Given the description of an element on the screen output the (x, y) to click on. 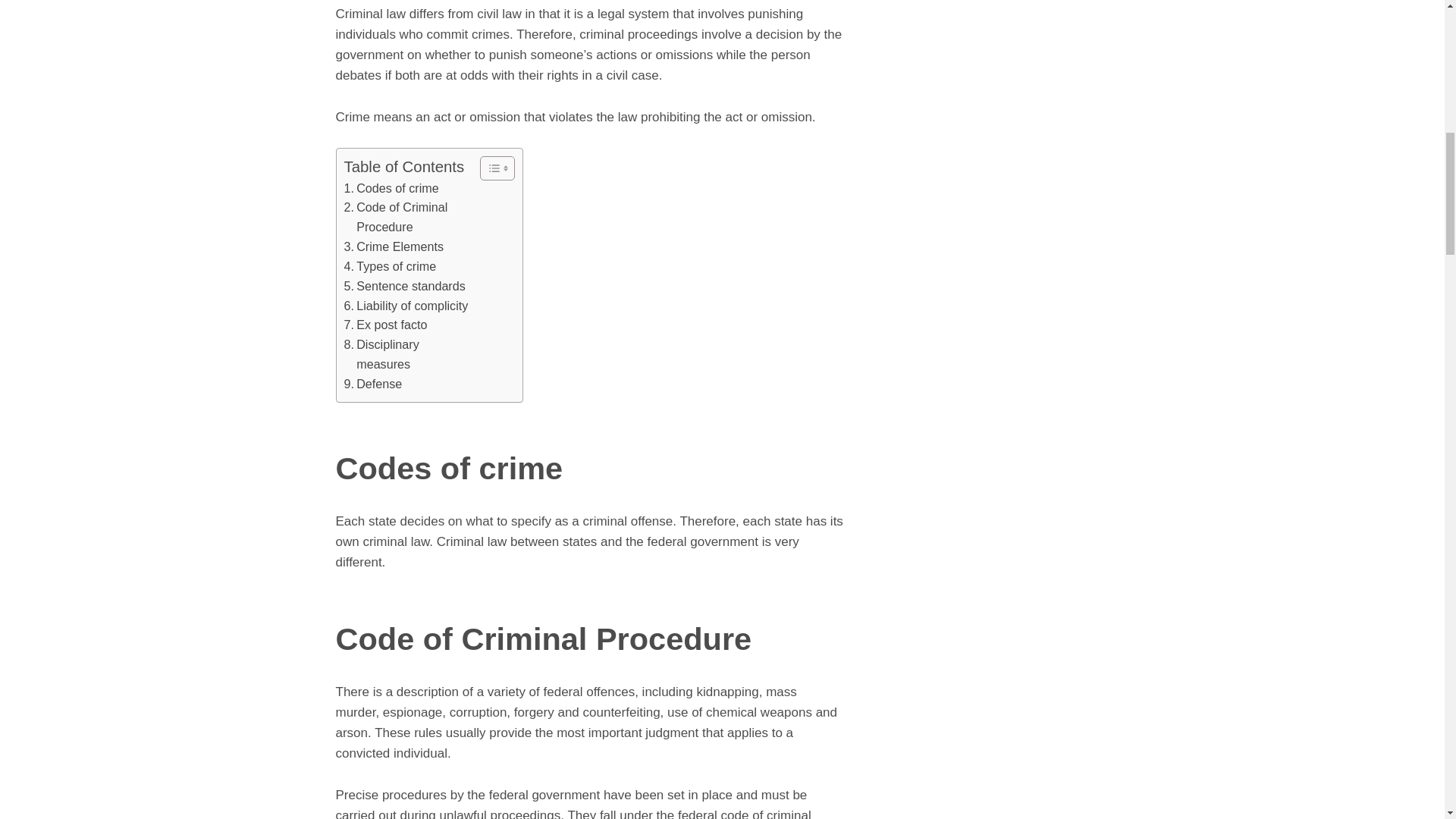
Ex post facto (385, 324)
Code of Criminal Procedure (408, 217)
Types of crime (389, 266)
Liability of complicity (405, 306)
Types of crime (389, 266)
Codes of crime (391, 189)
Crime Elements (393, 247)
Liability of complicity (405, 306)
Ex post facto (385, 324)
Crime Elements (393, 247)
